Given the description of an element on the screen output the (x, y) to click on. 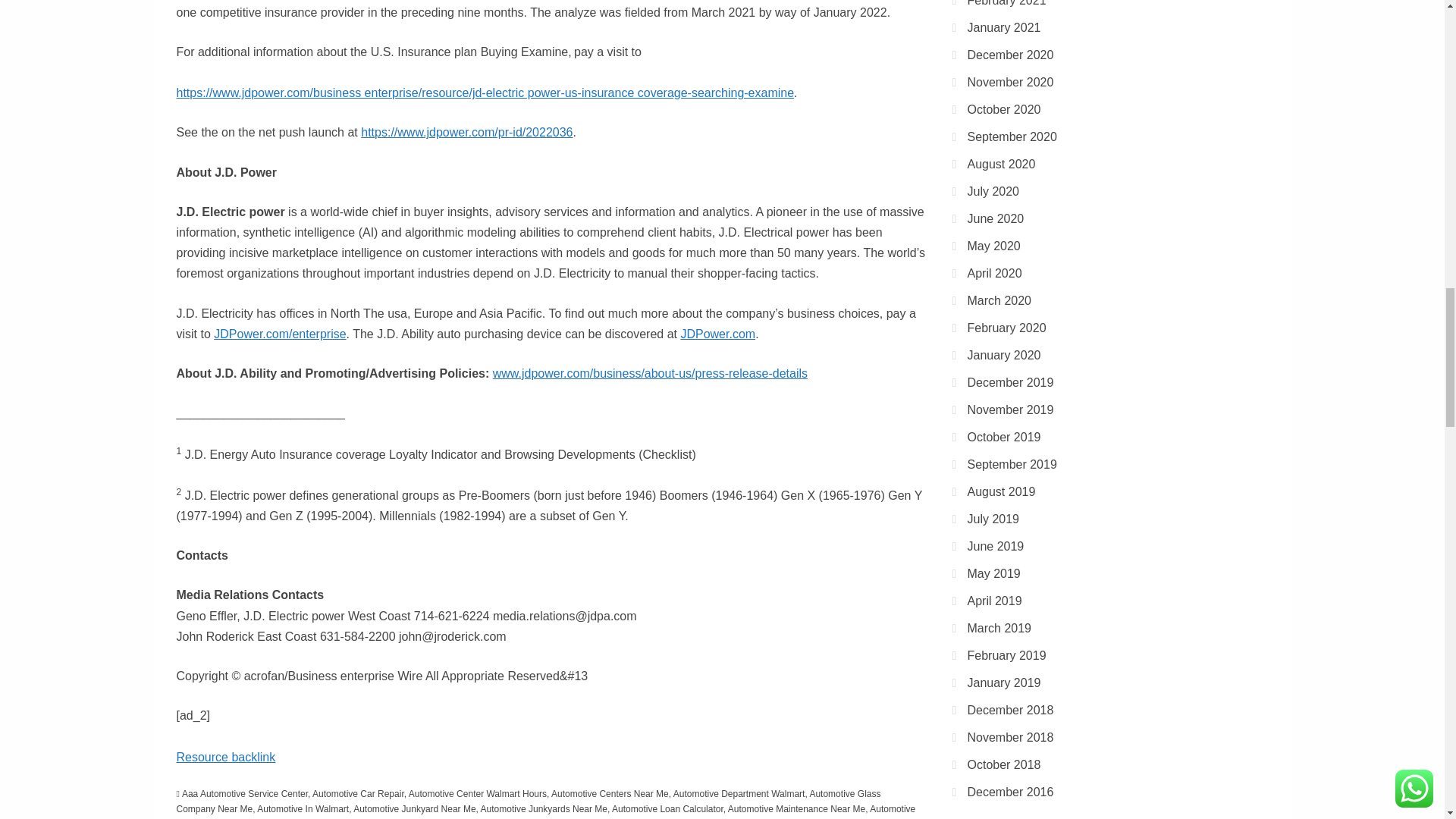
Resource backlink (225, 757)
Automotive Centers Near Me (609, 793)
Automotive In Walmart (303, 808)
Automotive Car Repair (358, 793)
Aaa Automotive Service Center (244, 793)
Automotive Center Walmart Hours (478, 793)
Automotive Department Walmart (738, 793)
Automotive Glass Company Near Me (528, 801)
Automotive Junkyard Near Me (414, 808)
JDPower.com (717, 333)
